Given the description of an element on the screen output the (x, y) to click on. 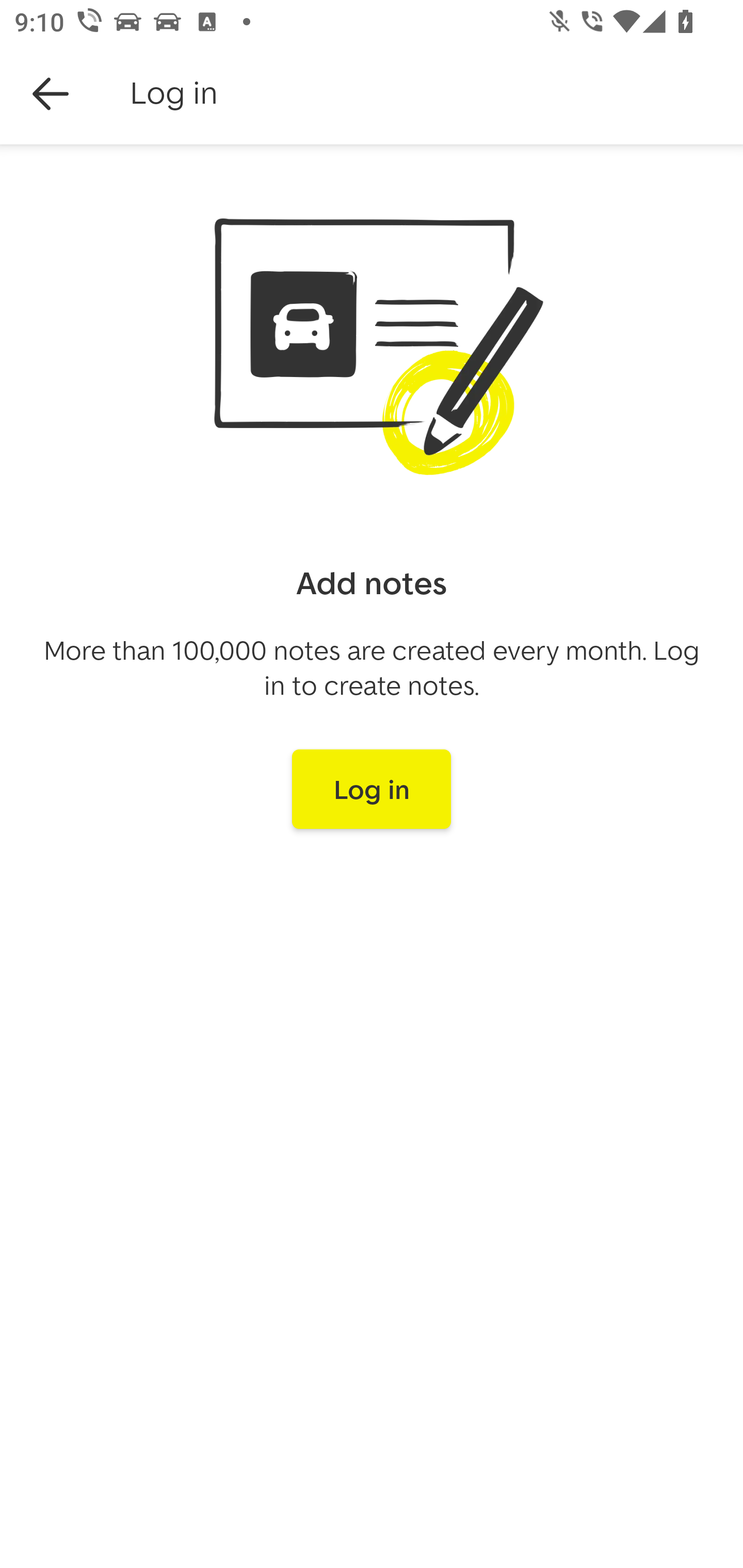
Navigate up (50, 93)
Log in (371, 789)
